Given the description of an element on the screen output the (x, y) to click on. 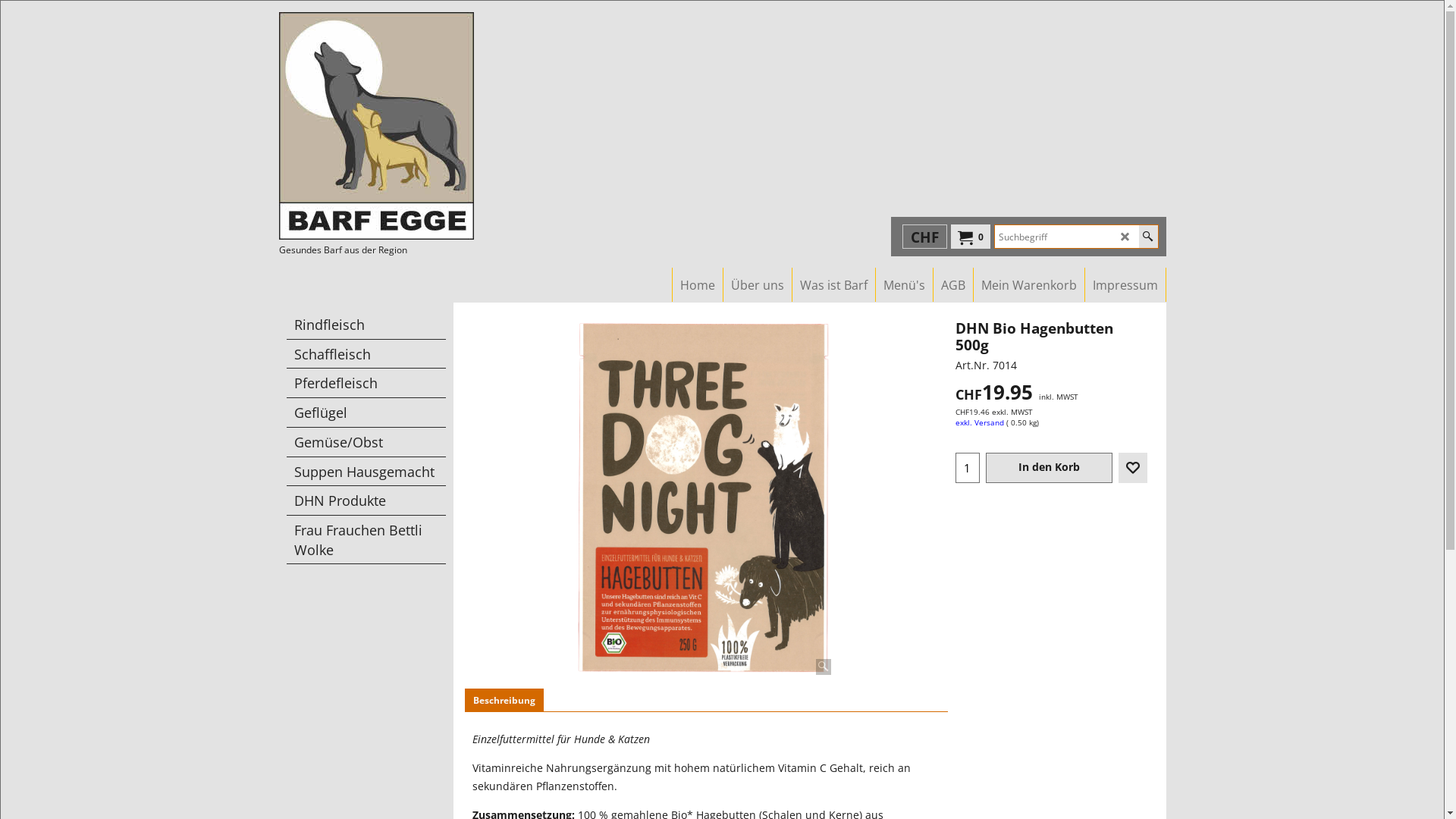
Beschreibung Element type: text (504, 699)
Mein Warenkorb Element type: text (1028, 284)
Frau Frauchen Bettli Wolke Element type: text (365, 539)
CHF Element type: text (924, 236)
Favoriten Element type: hover (1131, 467)
LD_CANCEL Element type: hover (1124, 236)
DHN Bio Hagenbutten 500g Element type: text (1051, 350)
Rindfleisch Element type: text (365, 324)
Schaffleisch Element type: text (365, 354)
Suche Element type: hover (1148, 236)
Impressum Element type: text (1124, 284)
Was ist Barf Element type: text (832, 284)
Home Element type: text (696, 284)
Barfegge Kaufmann  Element type: hover (412, 125)
In den Korb Element type: text (1047, 467)
Barfegge Kaufmann  Element type: hover (376, 125)
DHN Produkte Element type: text (365, 500)
1 Element type: text (966, 467)
exkl. Versand Element type: text (979, 422)
Suppen Hausgemacht Element type: text (365, 471)
AGB Element type: text (952, 284)
Pferdefleisch Element type: text (365, 383)
